Given the description of an element on the screen output the (x, y) to click on. 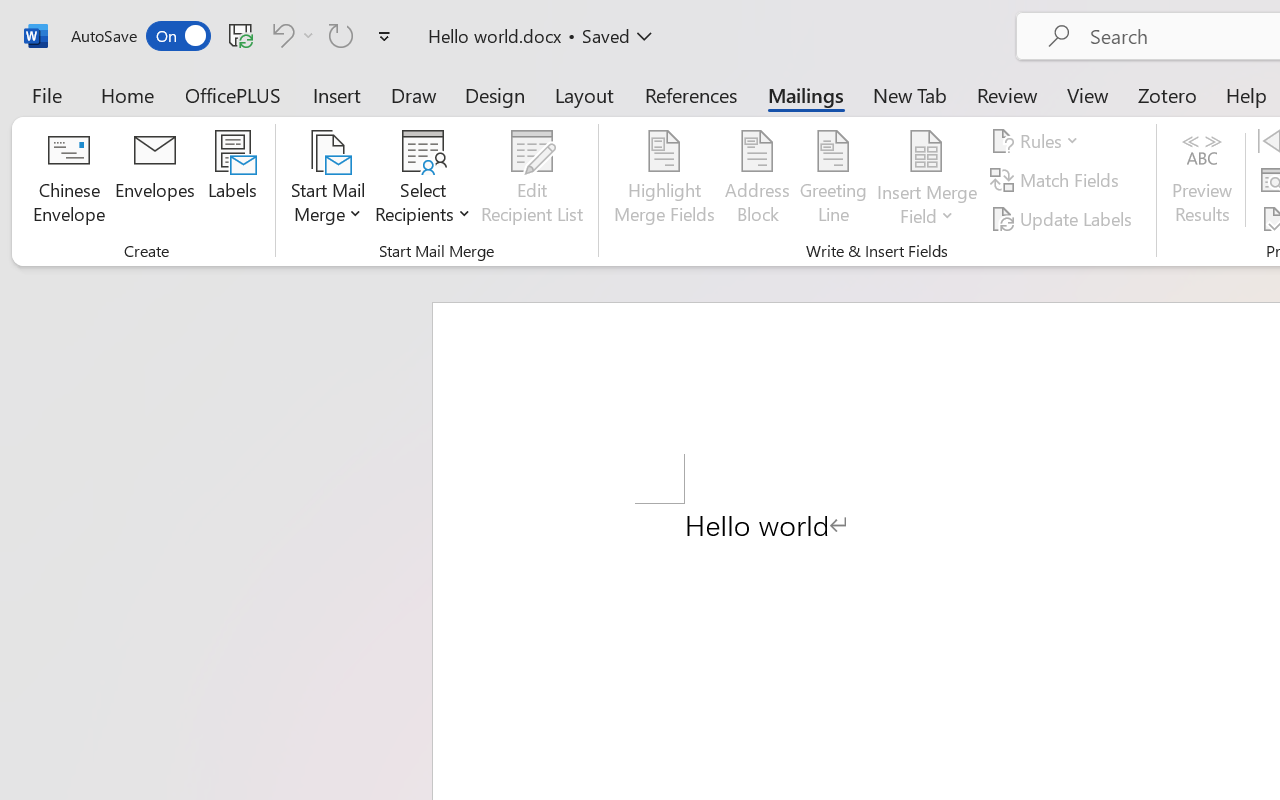
Chinese Envelope... (68, 179)
Zotero (1166, 94)
Save (241, 35)
Update Labels (1064, 218)
Start Mail Merge (328, 179)
File Tab (46, 94)
Labels... (232, 179)
Envelopes... (155, 179)
Match Fields... (1057, 179)
